Given the description of an element on the screen output the (x, y) to click on. 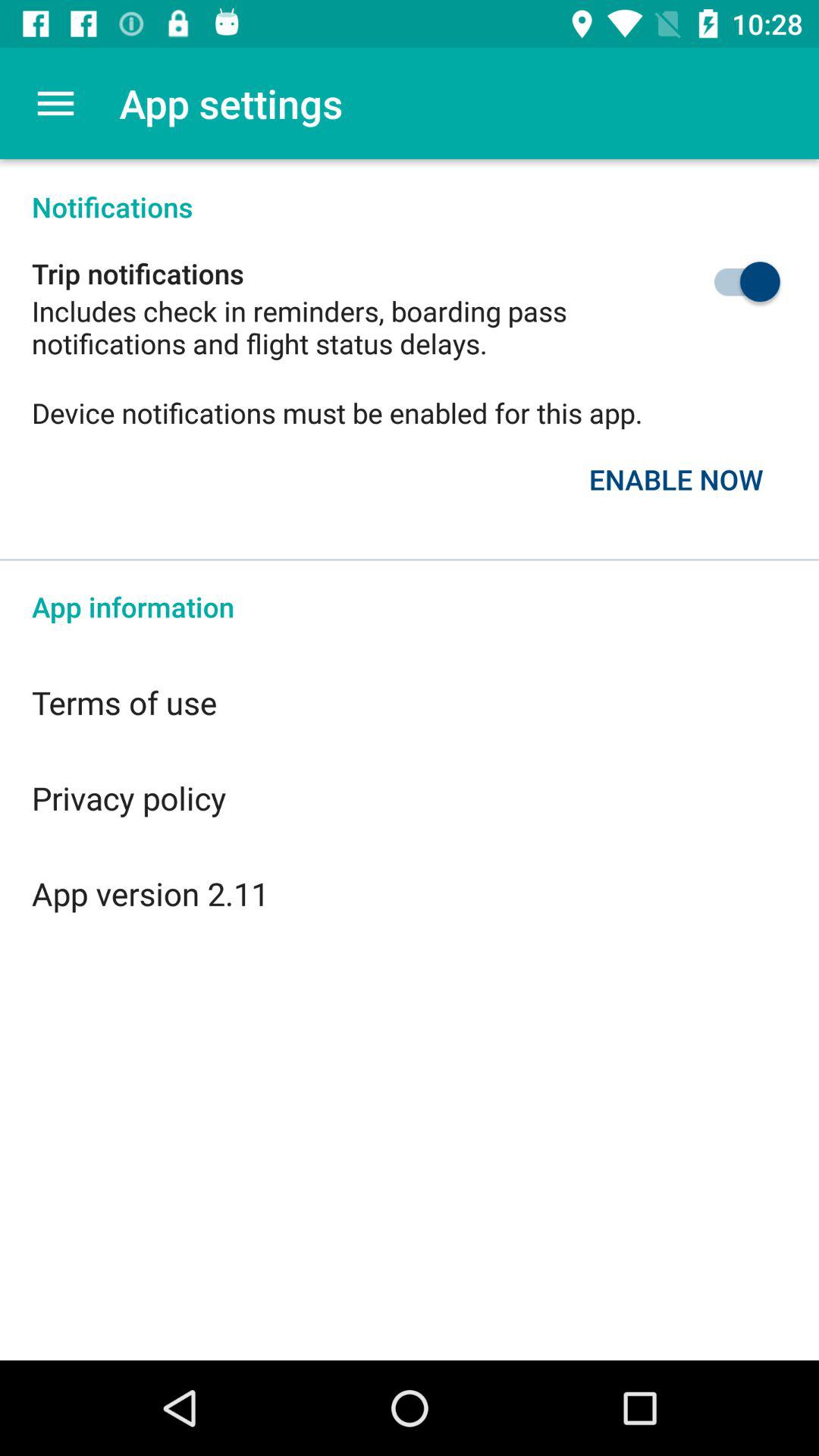
launch the item above privacy policy icon (409, 702)
